Given the description of an element on the screen output the (x, y) to click on. 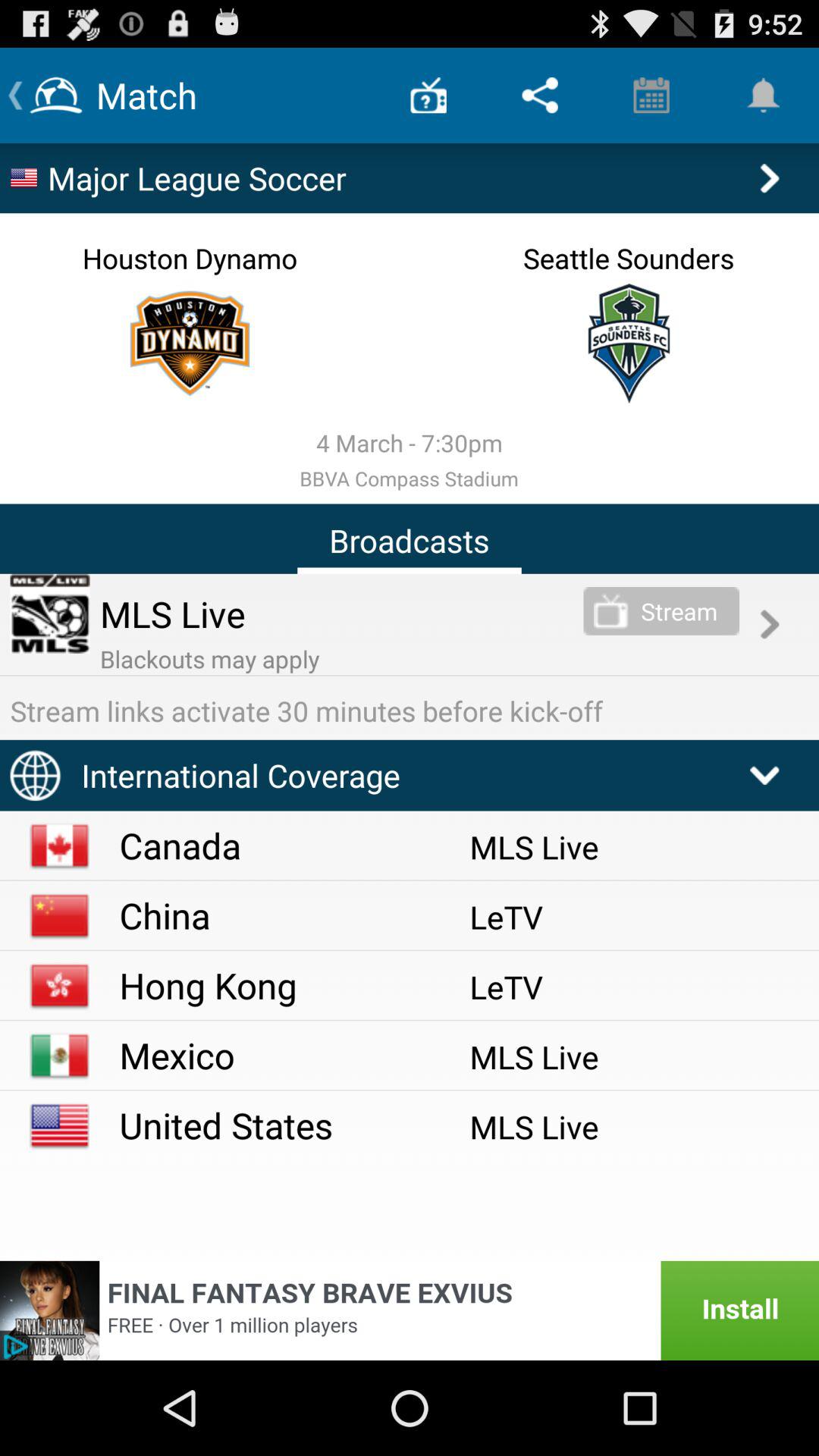
check team statistics (189, 343)
